Given the description of an element on the screen output the (x, y) to click on. 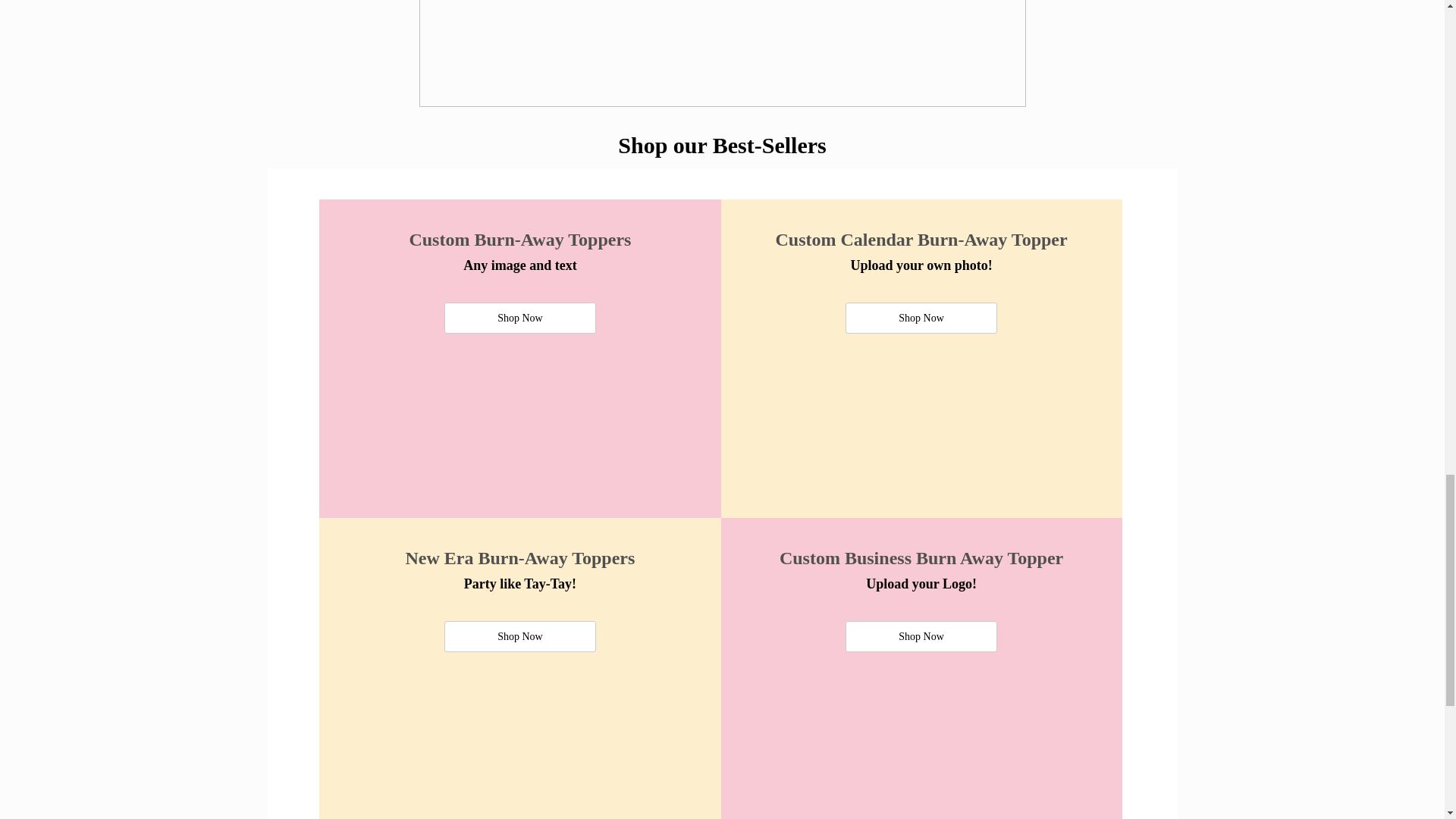
Shop Now (519, 635)
Shop Now (921, 635)
Shop Now (519, 317)
Shop Now (921, 317)
